Given the description of an element on the screen output the (x, y) to click on. 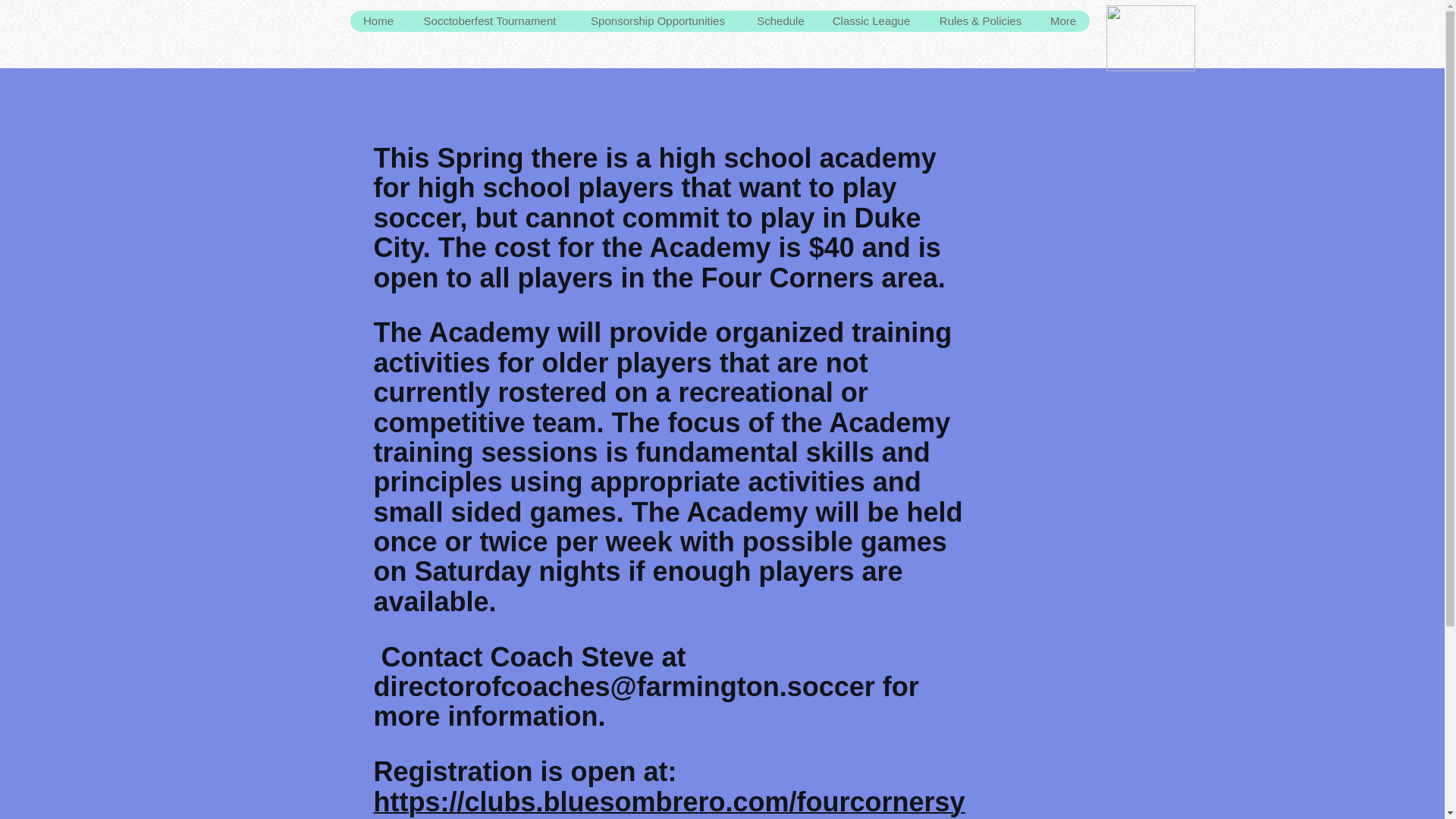
Classic League (869, 20)
Schedule (780, 20)
Socctoberfest Tournament (489, 20)
Sponsorship Opportunities (657, 20)
Home (378, 20)
